Given the description of an element on the screen output the (x, y) to click on. 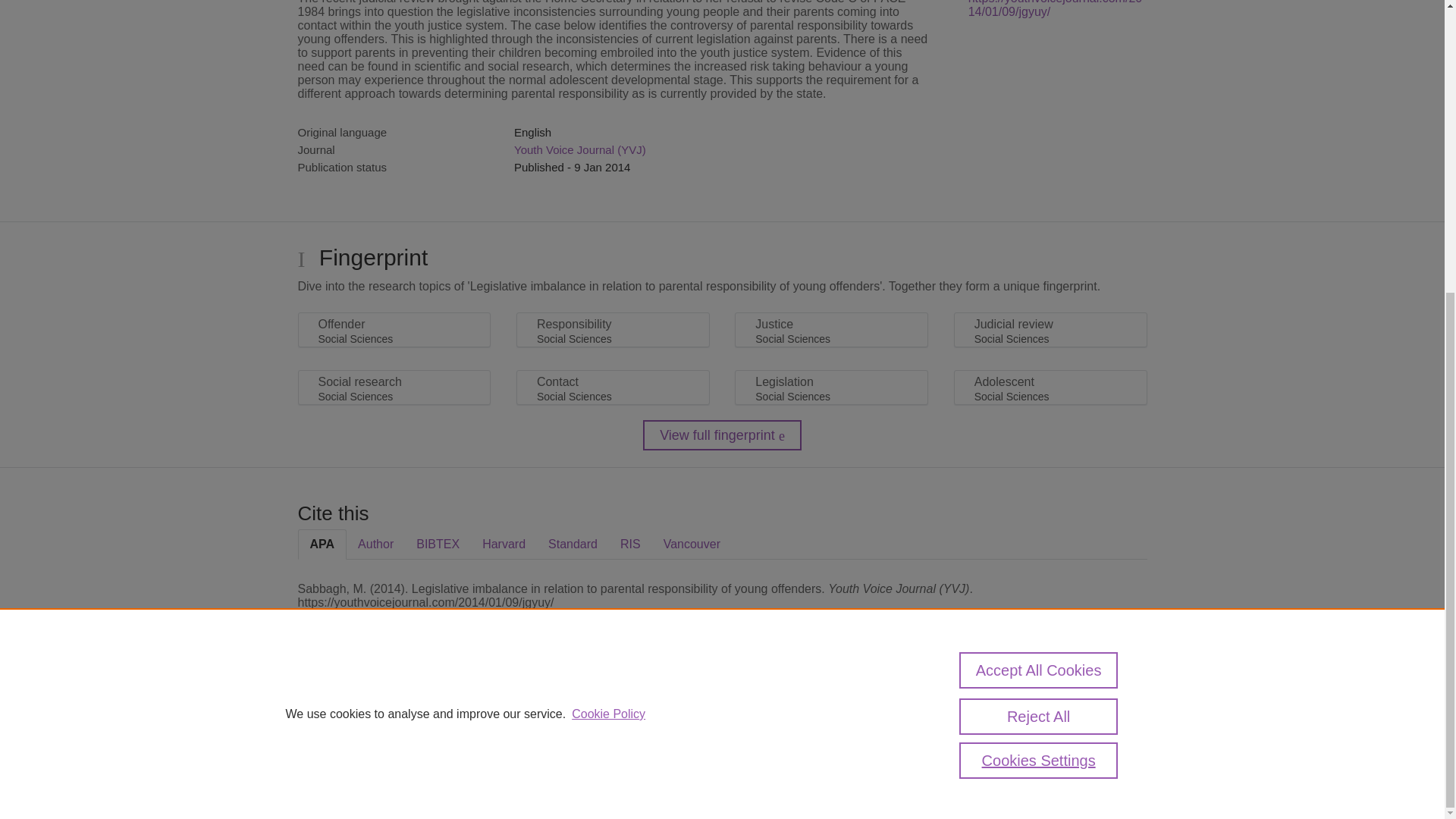
Reject All (1038, 268)
Pure (362, 708)
View full fingerprint (722, 435)
use of cookies (796, 760)
Elsevier B.V. (506, 728)
About web accessibility (1020, 713)
Contact us (1122, 713)
Cookies Settings (1038, 312)
Cookies Settings (334, 781)
Scopus (394, 708)
